Given the description of an element on the screen output the (x, y) to click on. 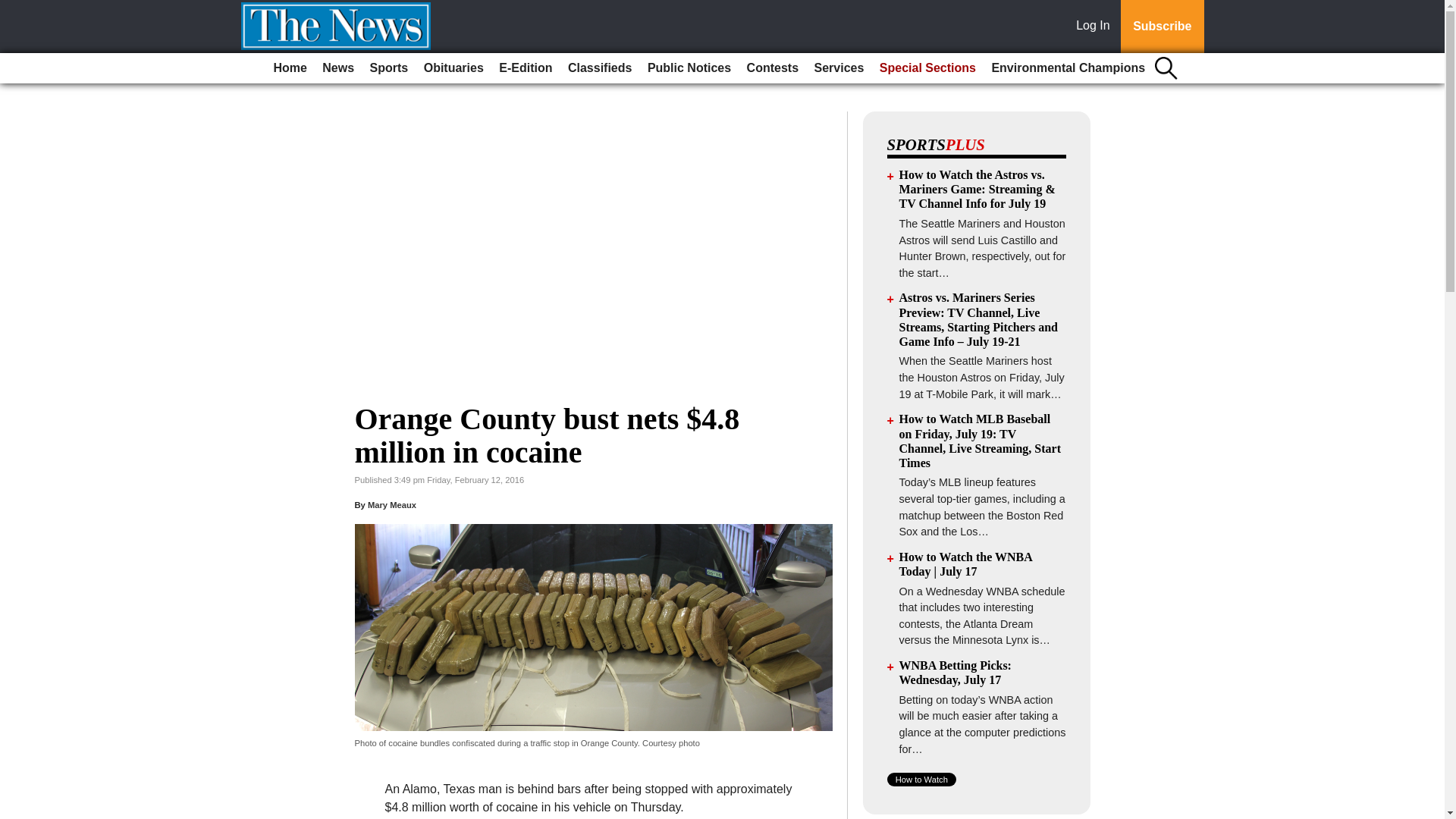
Classifieds (599, 68)
Sports (389, 68)
Mary Meaux (392, 504)
Environmental Champions (1068, 68)
Home (289, 68)
Go (13, 9)
Obituaries (453, 68)
Subscribe (1162, 26)
Contests (773, 68)
Public Notices (689, 68)
Log In (1095, 26)
Special Sections (927, 68)
E-Edition (525, 68)
Services (839, 68)
